Given the description of an element on the screen output the (x, y) to click on. 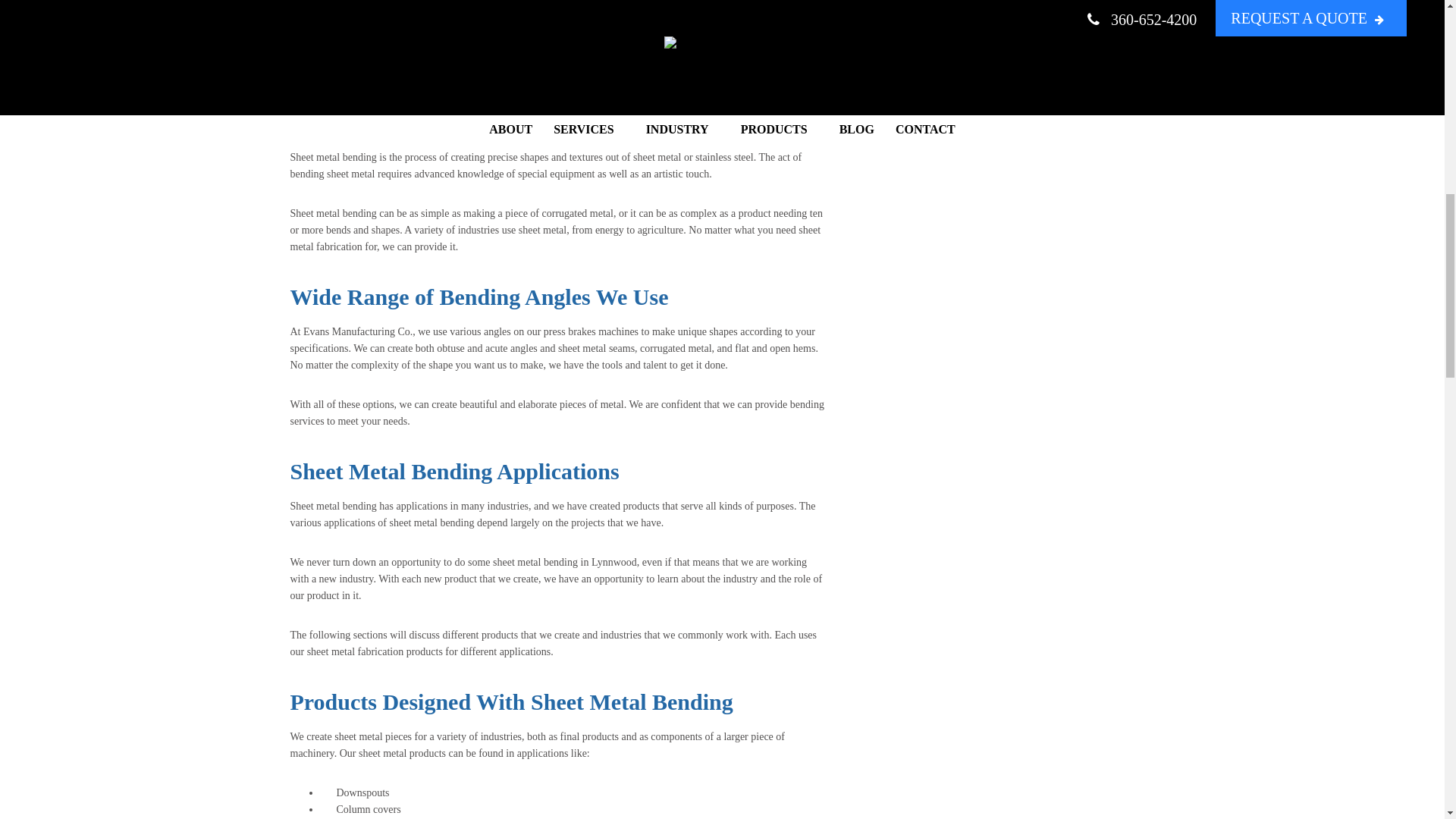
Seattle (303, 19)
Everett (395, 19)
Marysville (349, 19)
